Given the description of an element on the screen output the (x, y) to click on. 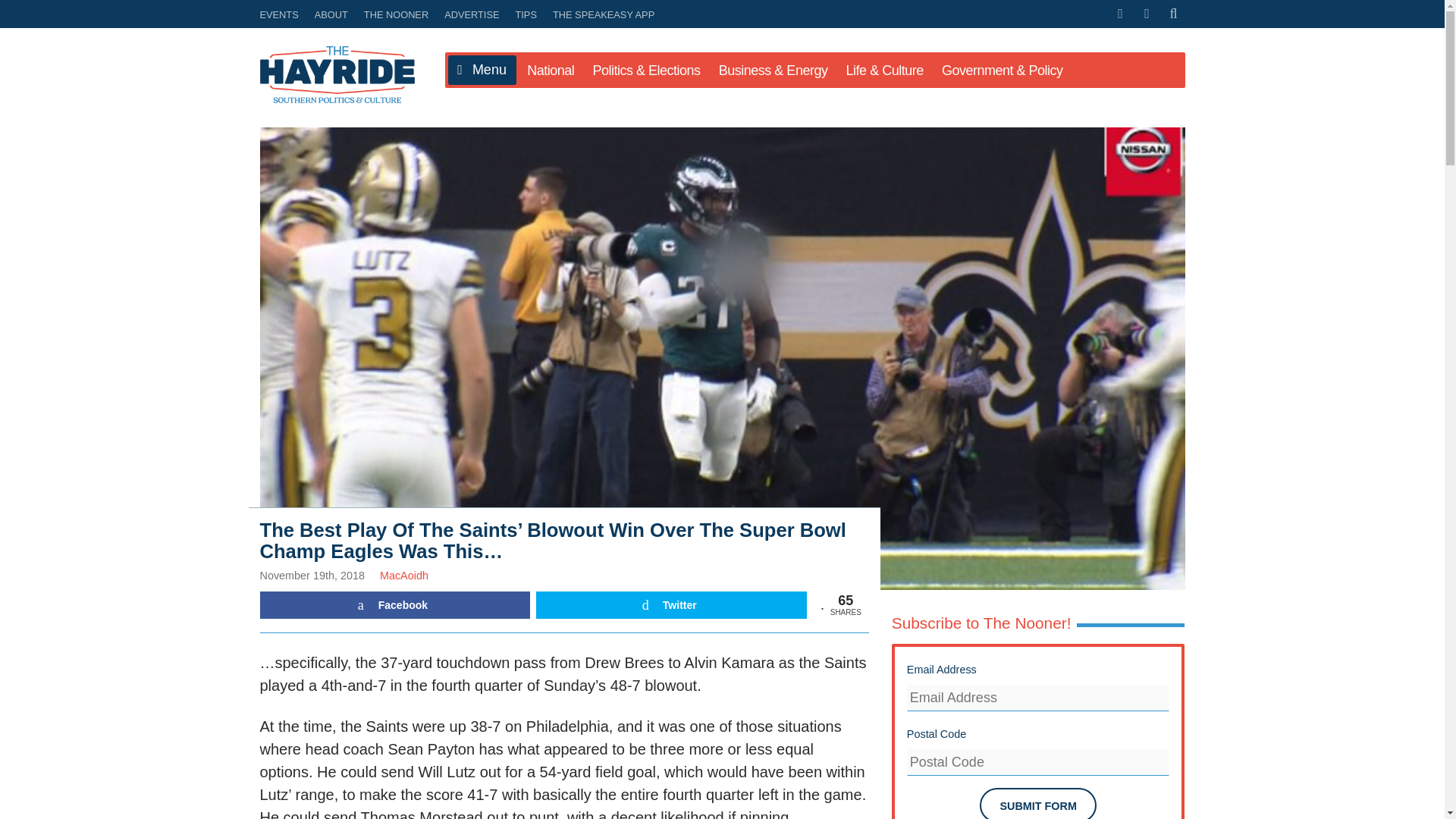
EVENTS (281, 14)
Share on Twitter (670, 605)
Share on Facebook (394, 605)
TIPS (526, 14)
National (549, 70)
MacAoidh (404, 575)
ADVERTISE (471, 14)
THE SPEAKEASY APP (600, 14)
ABOUT (330, 14)
Menu (480, 70)
Facebook (394, 605)
Twitter (670, 605)
THE NOONER (395, 14)
